Given the description of an element on the screen output the (x, y) to click on. 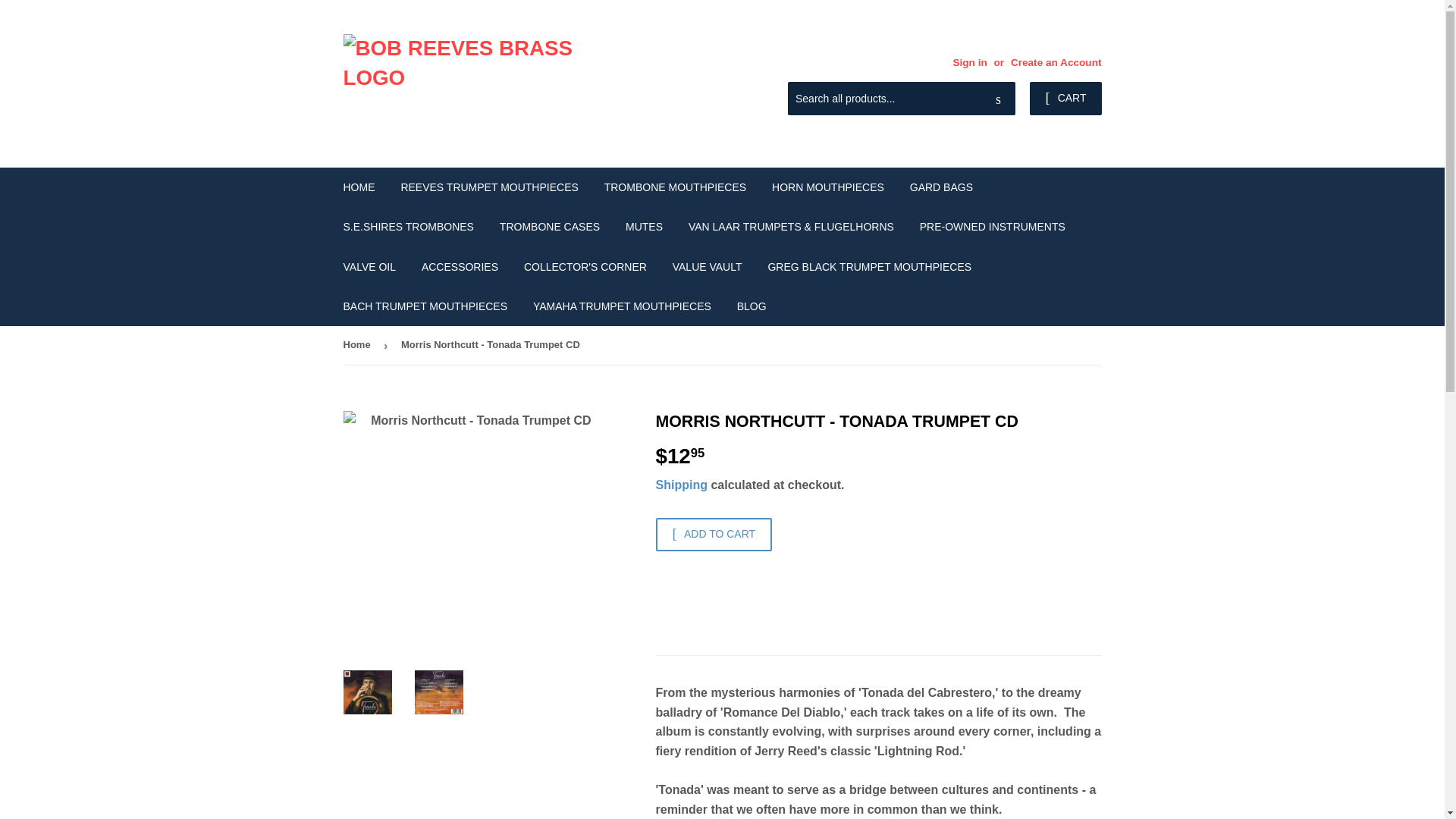
Search (997, 99)
GARD BAGS (941, 187)
Sign in (969, 61)
MUTES (644, 226)
TROMBONE MOUTHPIECES (674, 187)
Create an Account (1056, 61)
HORN MOUTHPIECES (827, 187)
TROMBONE CASES (549, 226)
VALVE OIL (369, 266)
CART (1064, 98)
